Given the description of an element on the screen output the (x, y) to click on. 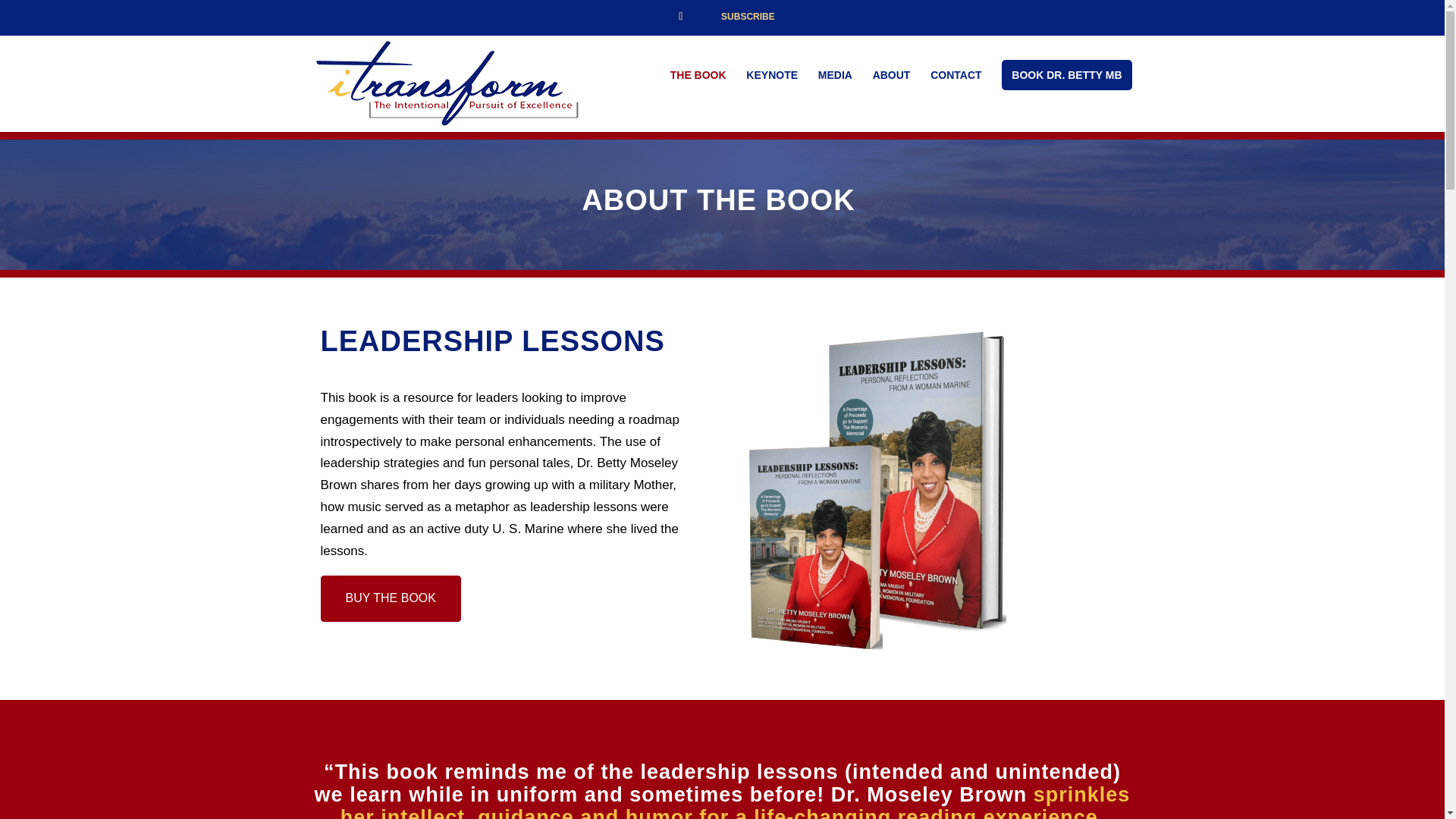
THE BOOK (697, 78)
KEYNOTE (771, 78)
BOOK DR. BETTY MB (1066, 74)
CONTACT (955, 78)
ABOUT (891, 78)
BUY THE BOOK (390, 598)
MEDIA (834, 78)
SUBSCRIBE (747, 19)
